Given the description of an element on the screen output the (x, y) to click on. 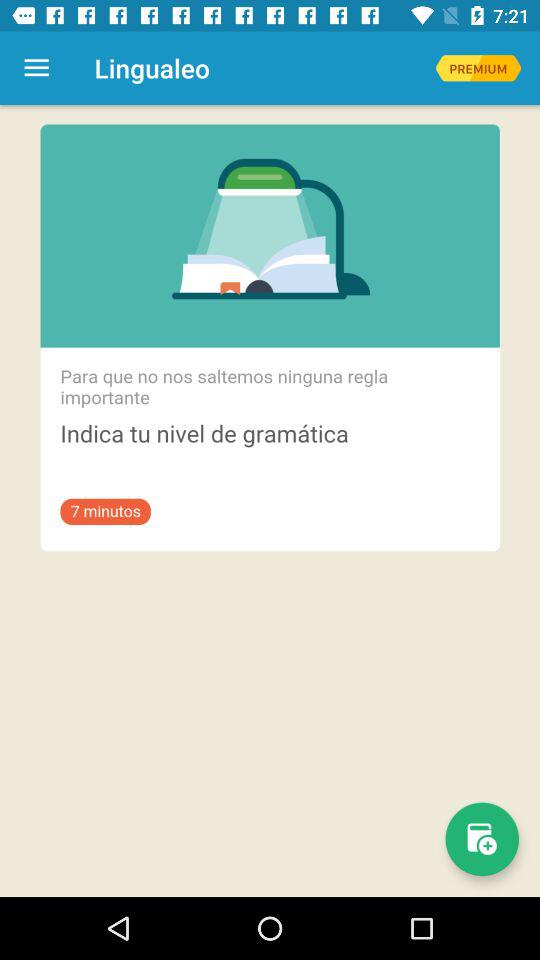
add lesson (482, 839)
